Given the description of an element on the screen output the (x, y) to click on. 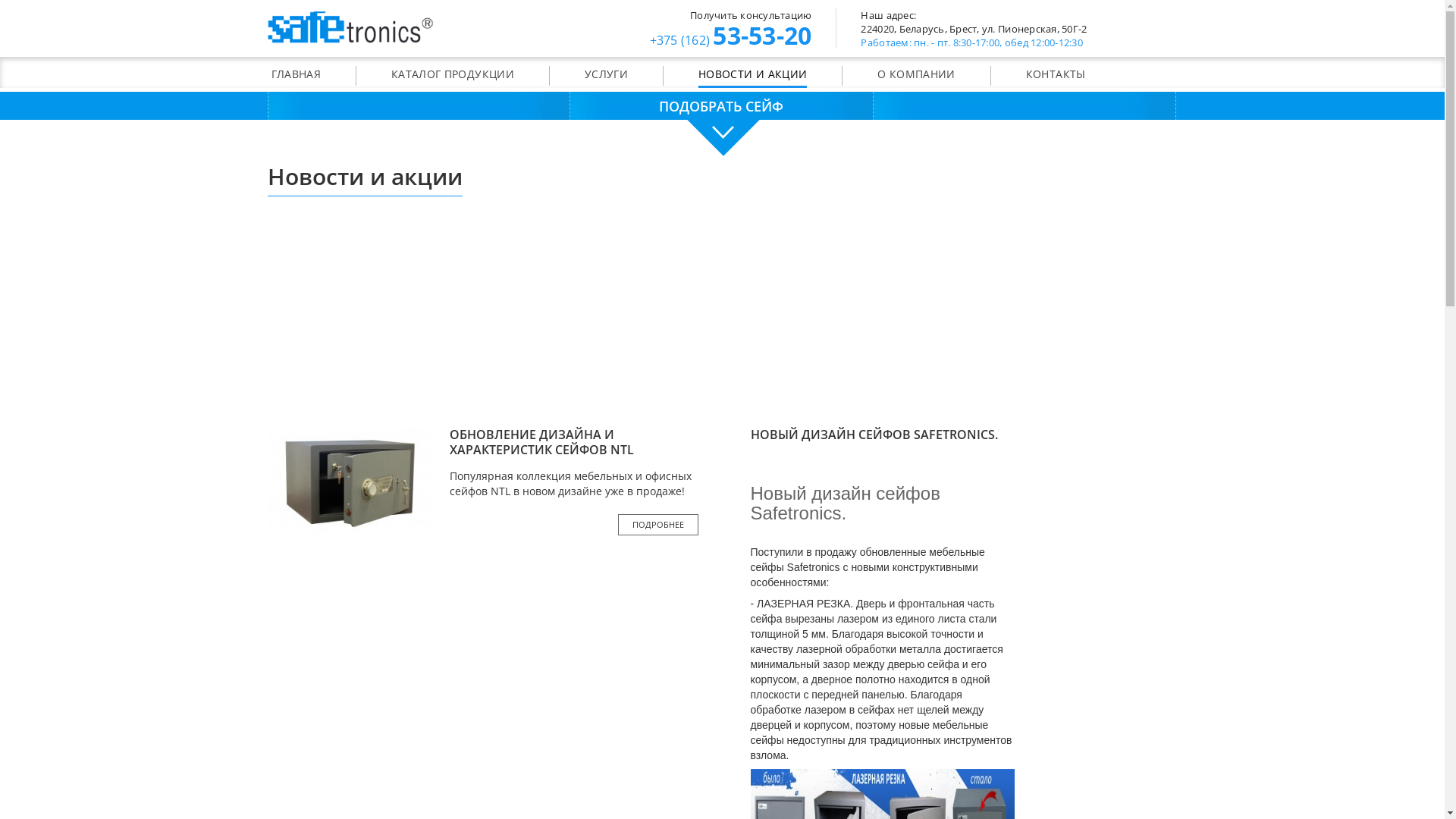
+375 (162) 53-53-20 Element type: text (730, 37)
